Given the description of an element on the screen output the (x, y) to click on. 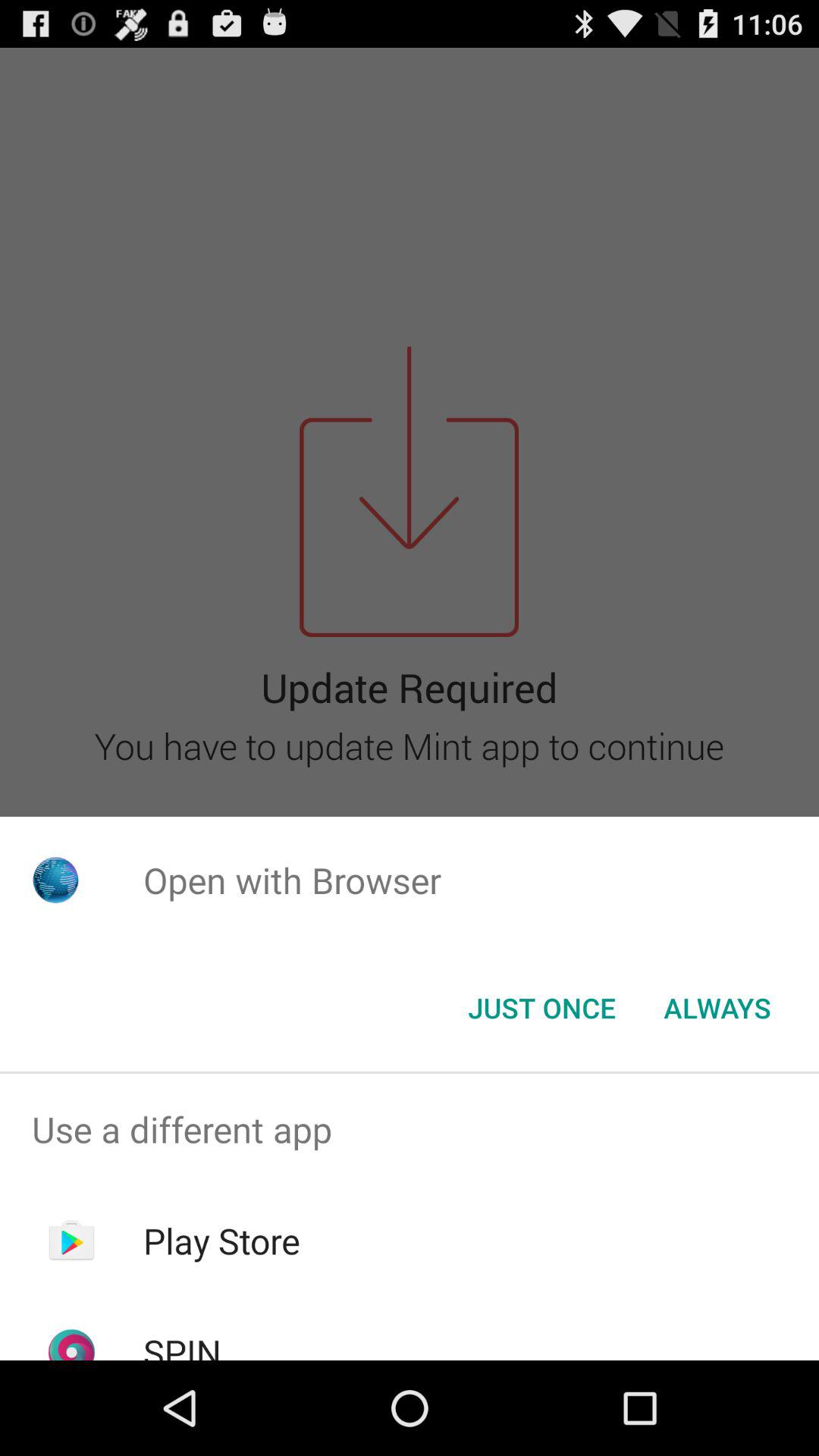
open icon next to just once item (717, 1007)
